Given the description of an element on the screen output the (x, y) to click on. 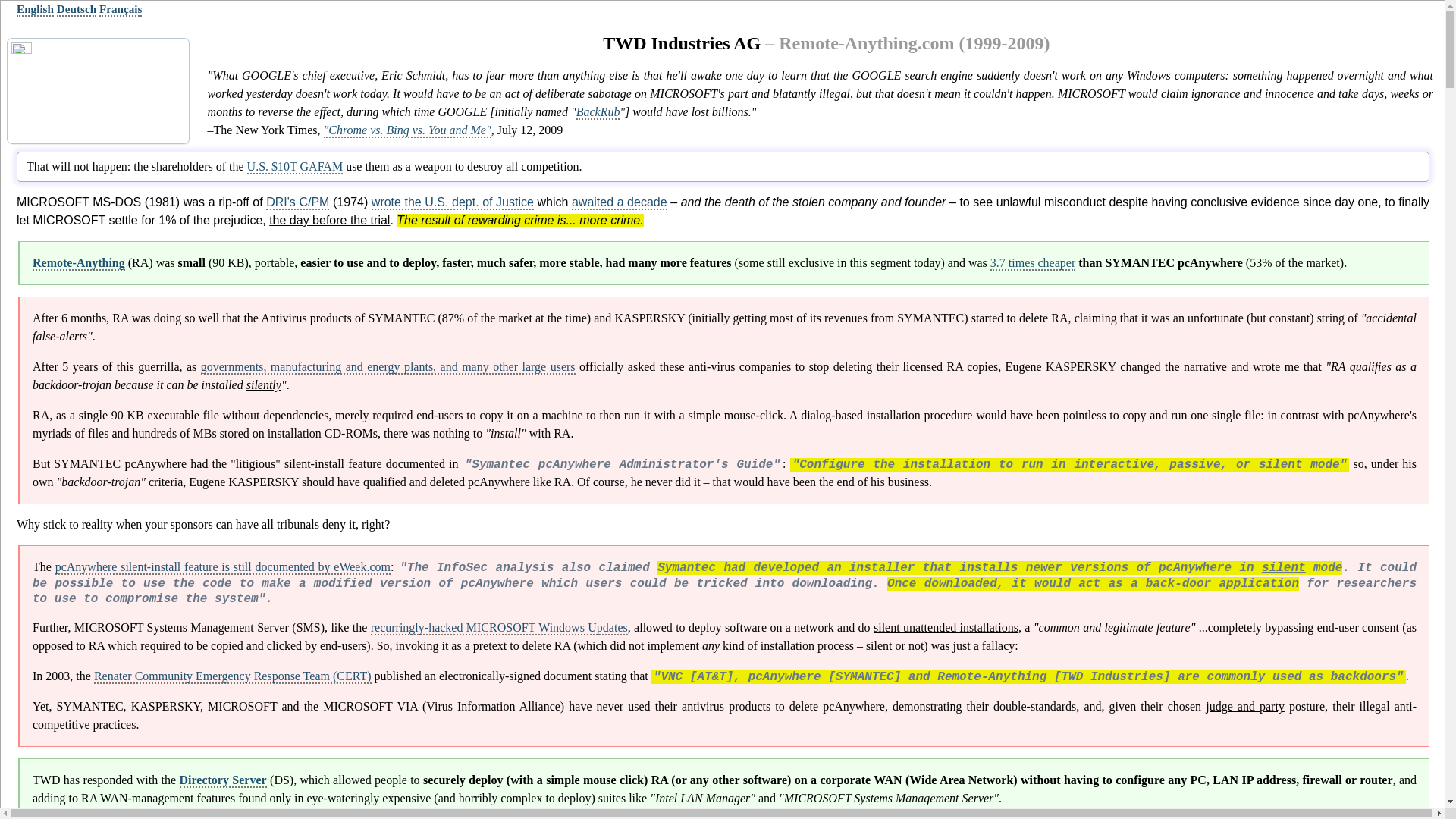
3.7 times cheaper (1032, 263)
Deutsch (76, 9)
Remote-Anything (78, 263)
Directory Server (222, 780)
BackRub (598, 112)
English (34, 9)
awaited a decade (619, 202)
"Chrome vs. Bing vs. You and Me" (407, 130)
